Given the description of an element on the screen output the (x, y) to click on. 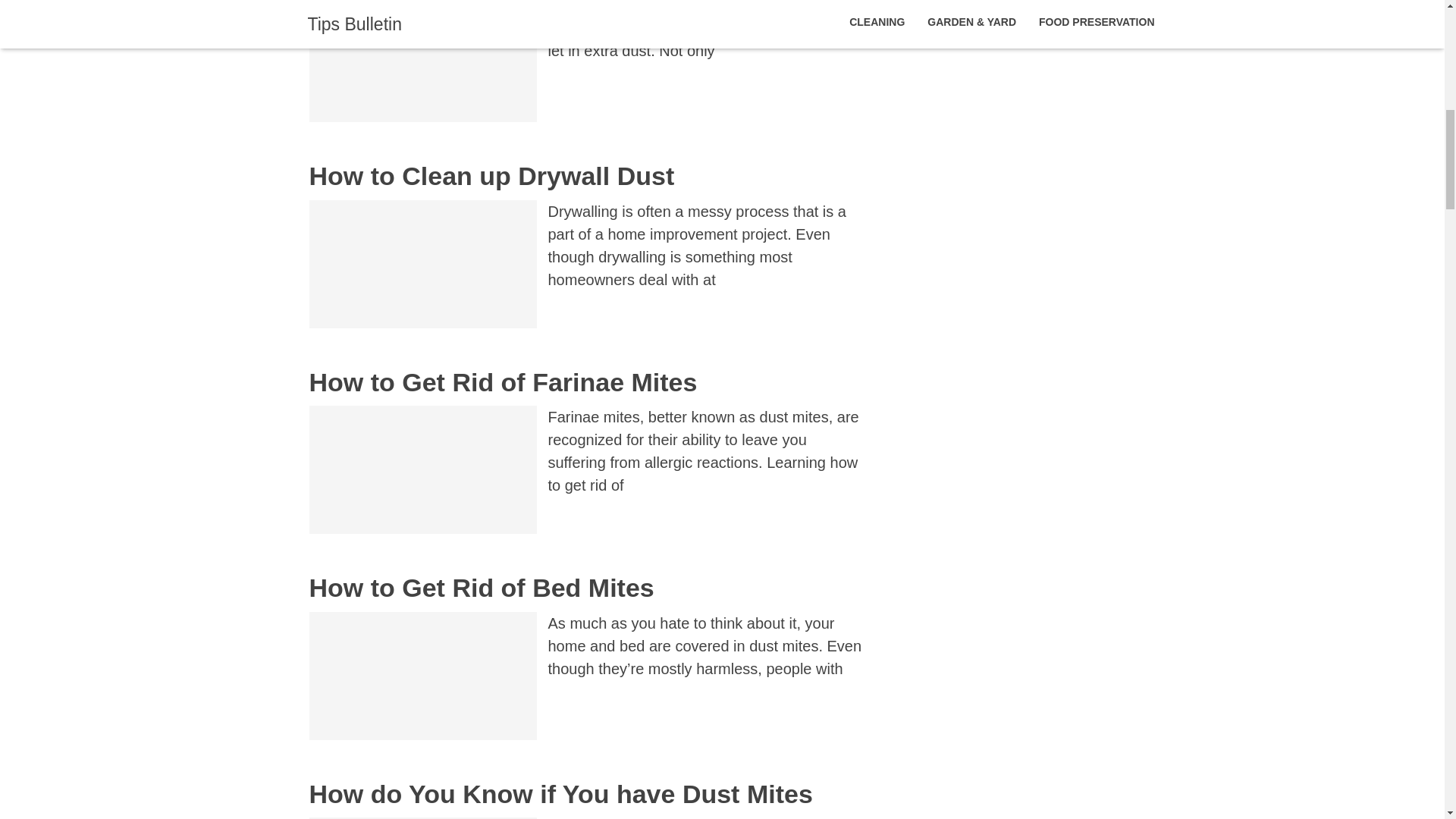
How to Clean up Drywall Dust (491, 175)
How do You Know if You have Dust Mites (560, 793)
How to Get Rid of Bed Mites (480, 587)
How to Get Rid of Farinae Mites (502, 381)
